Given the description of an element on the screen output the (x, y) to click on. 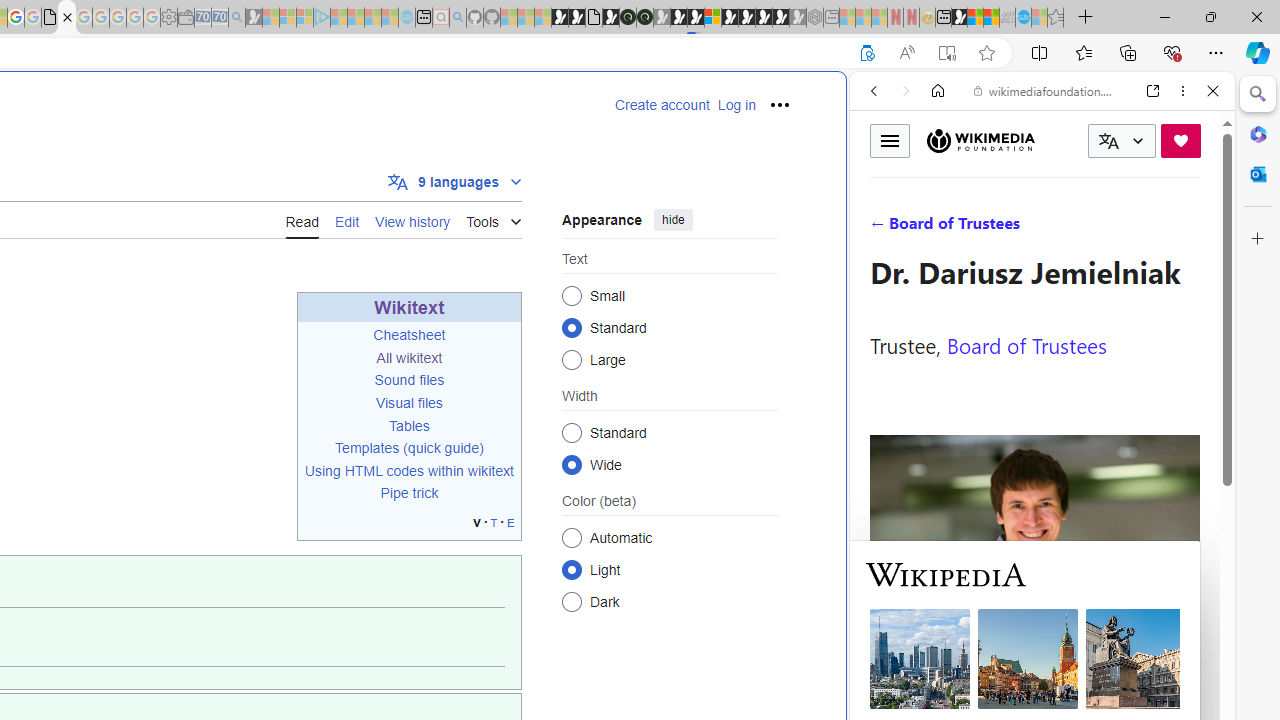
Tables (409, 425)
Sound files (409, 379)
Log in (736, 105)
Templates (367, 448)
All wikitext (409, 358)
